Given the description of an element on the screen output the (x, y) to click on. 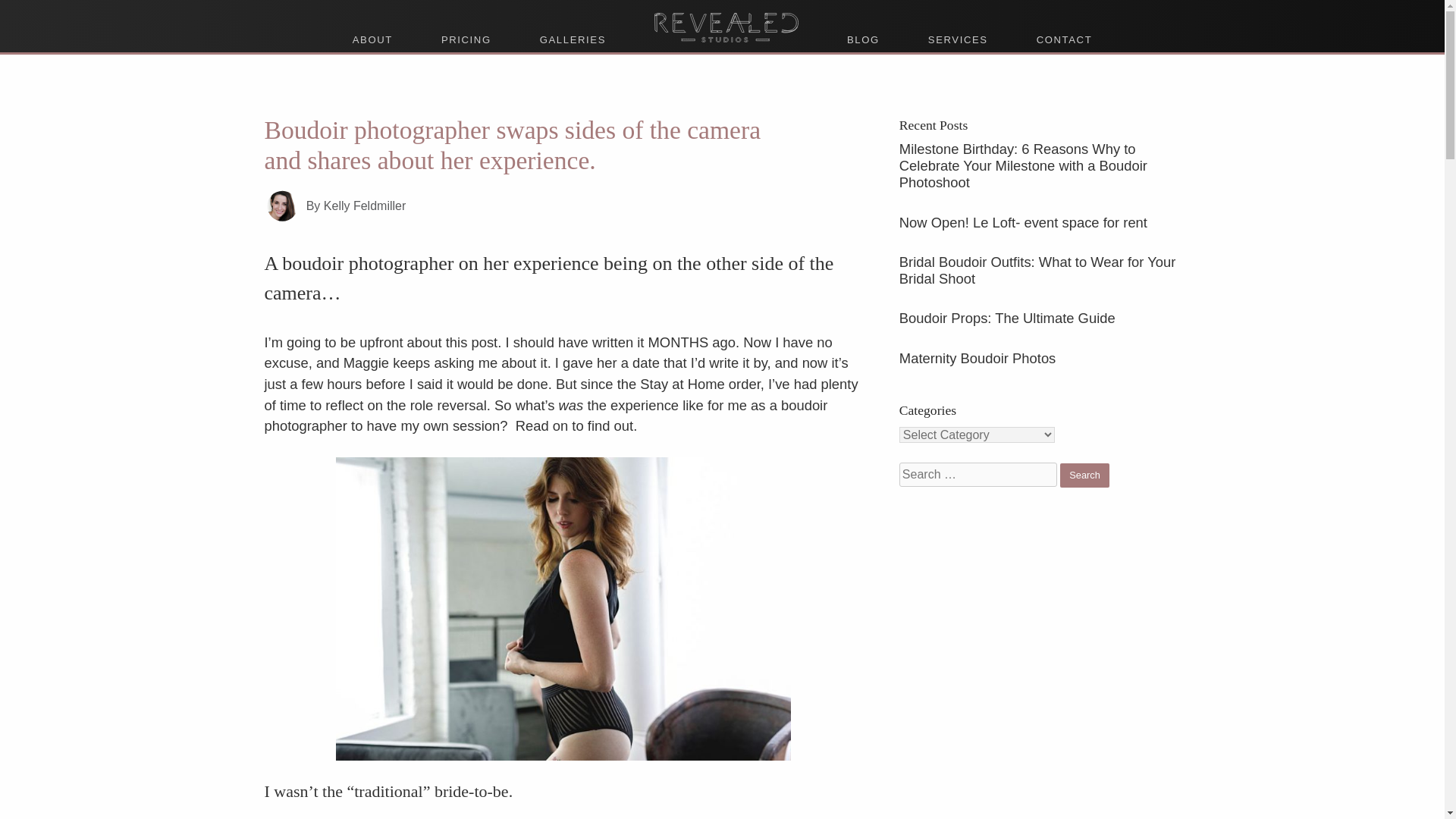
Revealed Studios (725, 18)
GALLERIES (572, 39)
Search (1084, 475)
SERVICES (957, 39)
CONTACT (1063, 39)
PRICING (465, 39)
BLOG (863, 39)
Search (1084, 475)
ABOUT (372, 39)
